Given the description of an element on the screen output the (x, y) to click on. 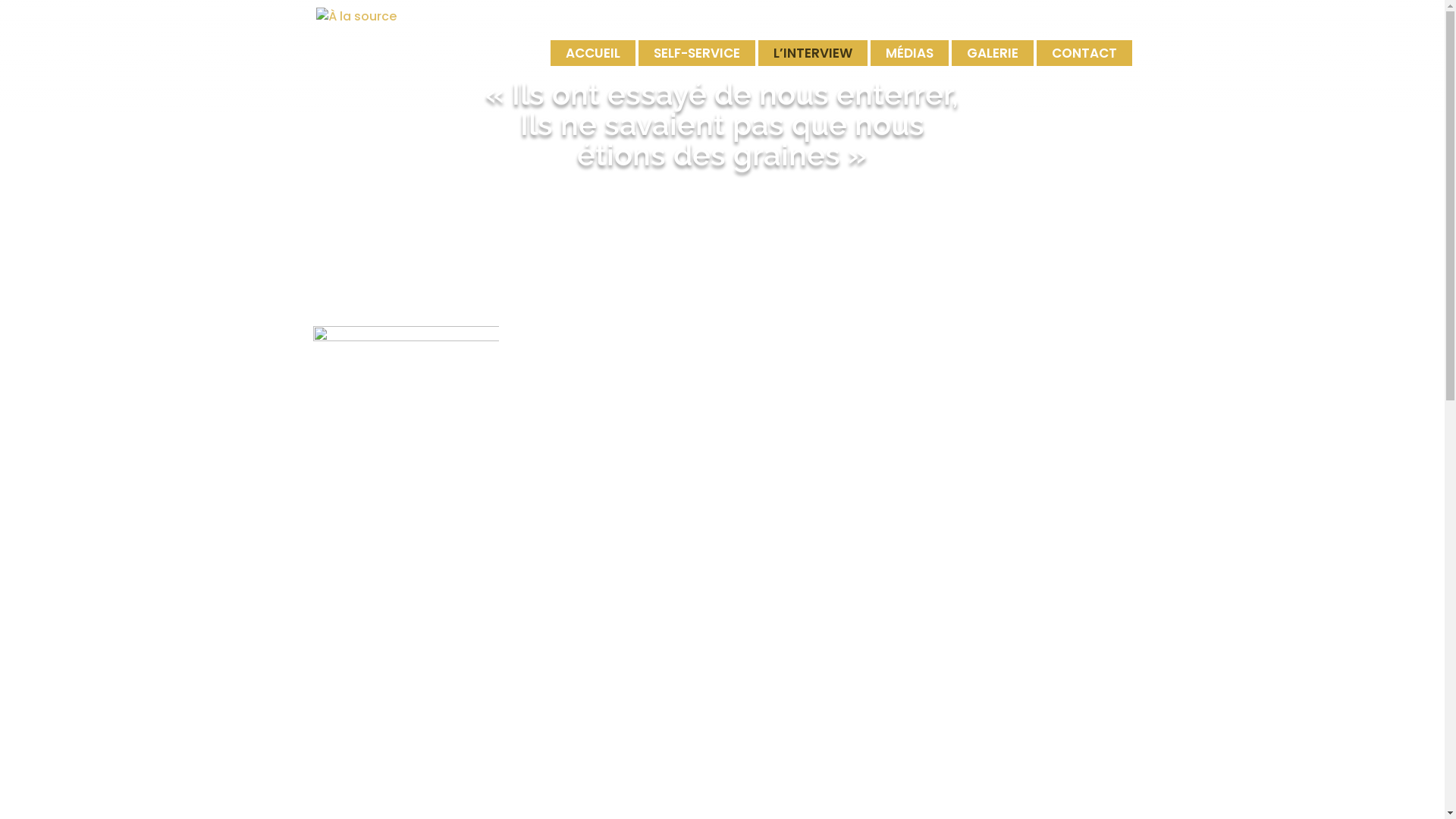
CONTACT Element type: text (1083, 52)
SELF-SERVICE Element type: text (696, 52)
GALERIE Element type: text (991, 52)
Press laura final Element type: hover (405, 419)
ACCUEIL Element type: text (592, 52)
